Given the description of an element on the screen output the (x, y) to click on. 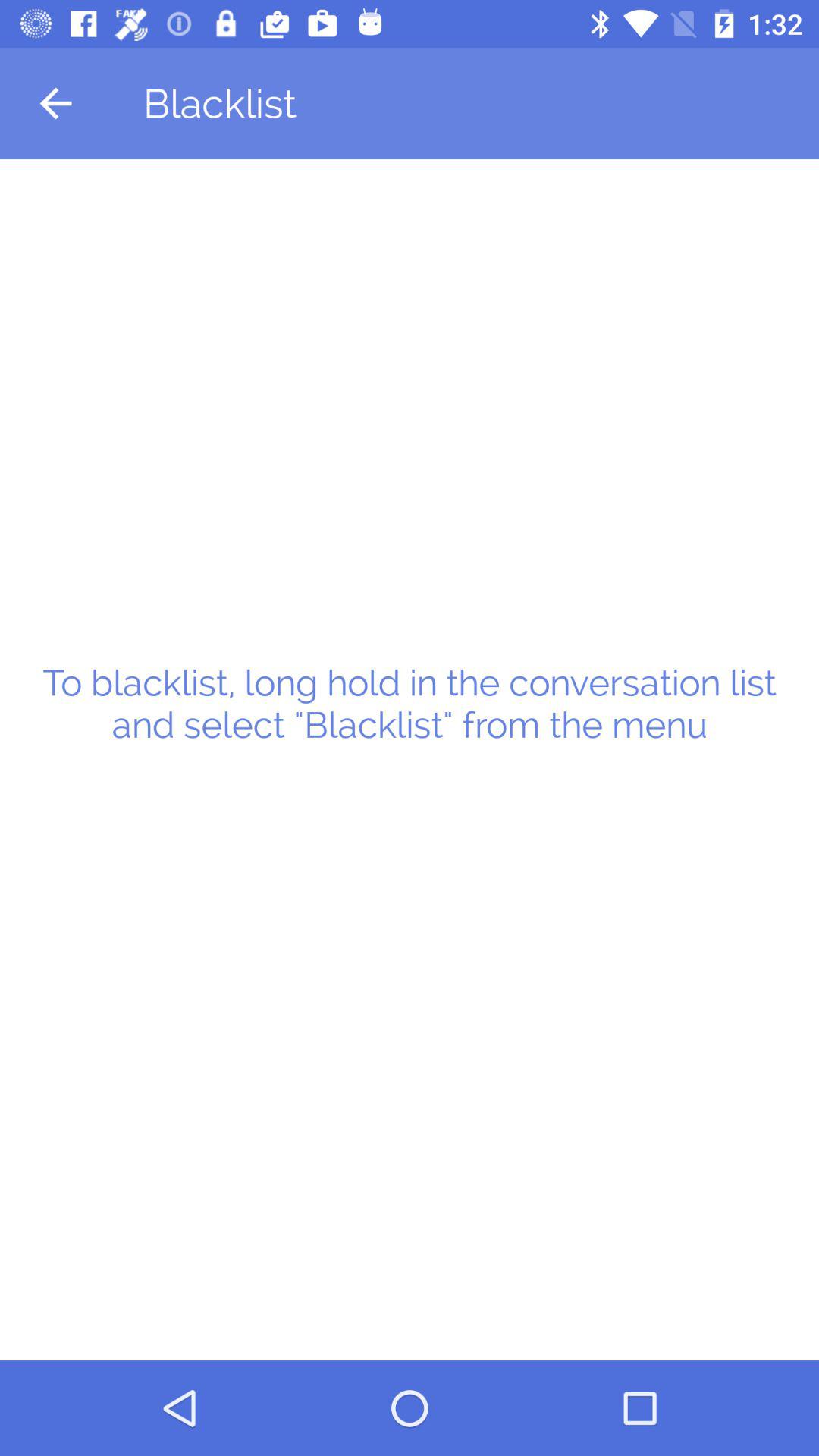
click the icon to the left of blacklist (55, 103)
